Given the description of an element on the screen output the (x, y) to click on. 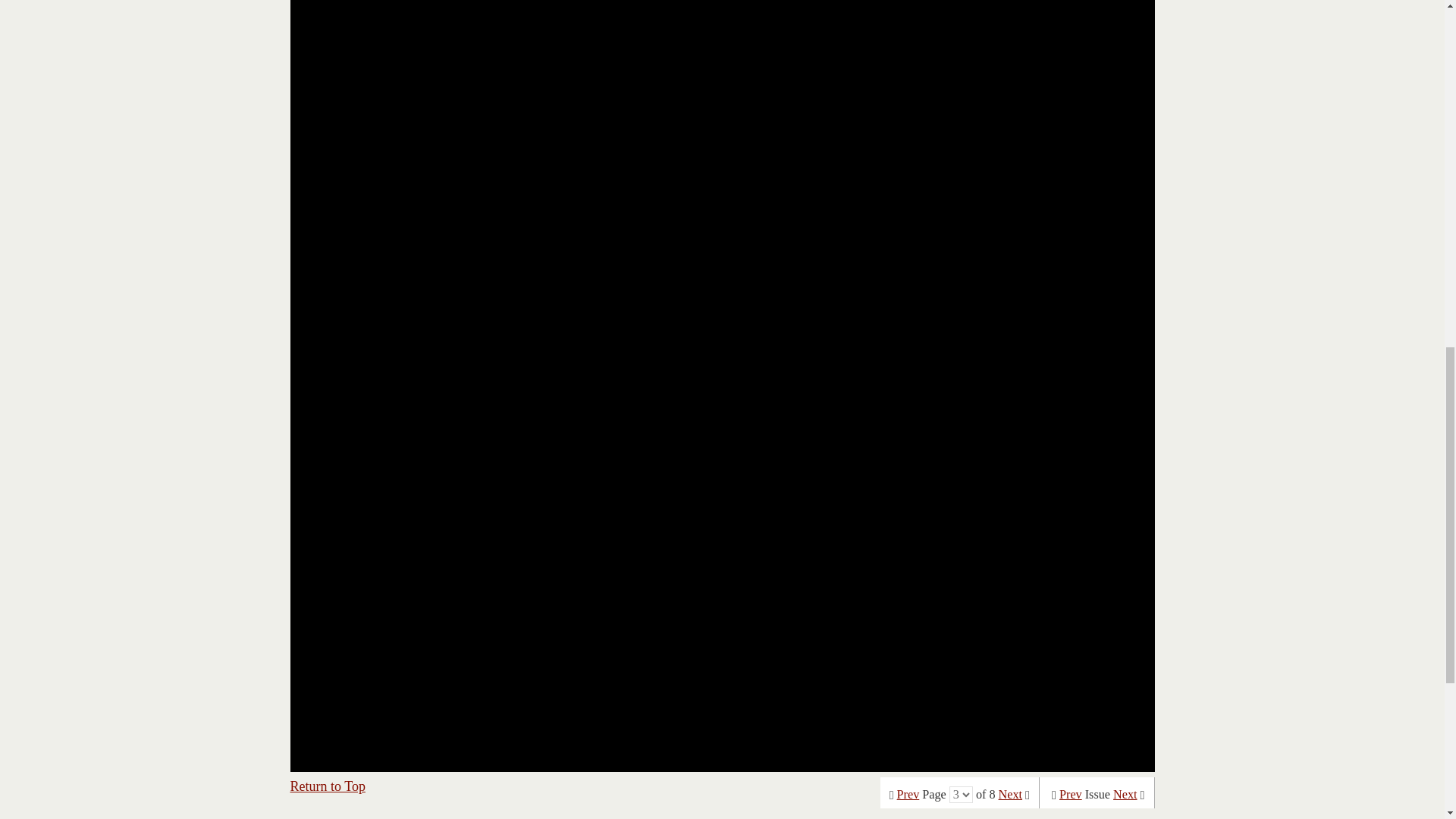
Prev (908, 794)
Return to Top (327, 785)
Next (1125, 794)
Next (1010, 794)
Prev (1070, 794)
